Given the description of an element on the screen output the (x, y) to click on. 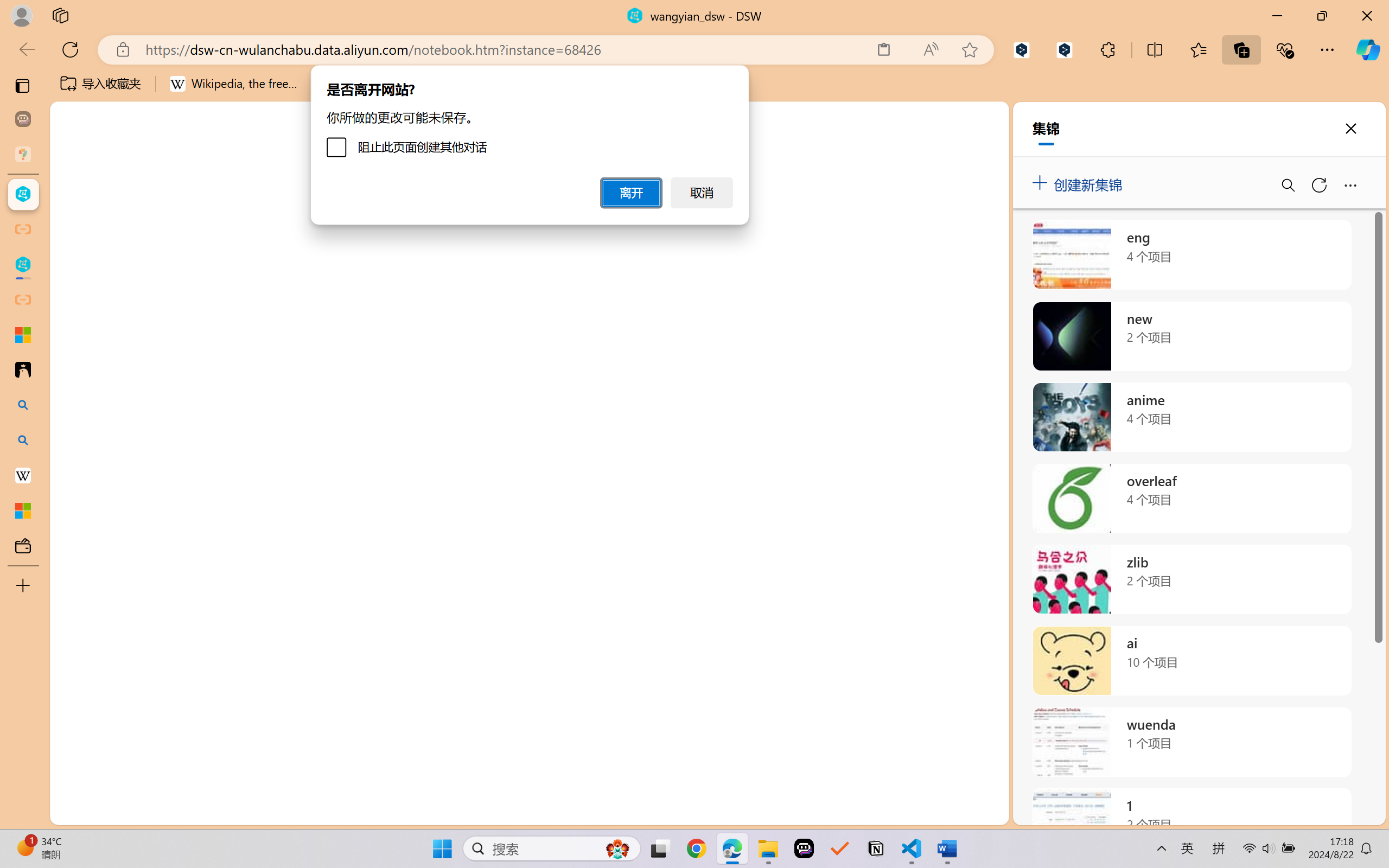
Customize Layout... (1372, 159)
Class: xterm-decoration-overview-ruler (1262, 697)
Accounts - Sign in requested (73, 732)
No Problems (115, 812)
Terminal (Ctrl+`) (553, 565)
wangyian_webcrawler - DSW (22, 264)
